Given the description of an element on the screen output the (x, y) to click on. 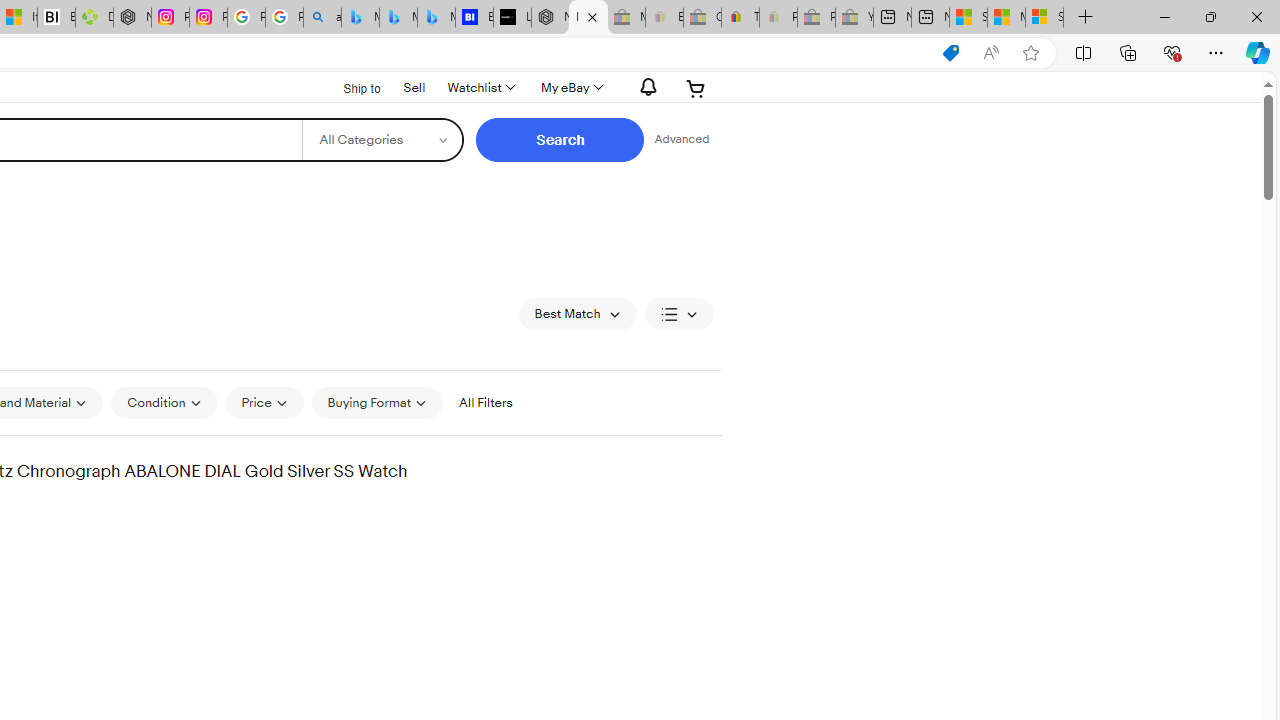
View: List View (678, 313)
Notifications (642, 87)
WatchlistExpand Watch List (479, 88)
Buying Format (377, 403)
Invicta products for sale | eBay (587, 17)
Buying Format (377, 402)
Nordace - Nordace Edin Collection (132, 17)
Price (264, 403)
AutomationID: gh-eb-Alerts (645, 87)
Sell (414, 87)
